Given the description of an element on the screen output the (x, y) to click on. 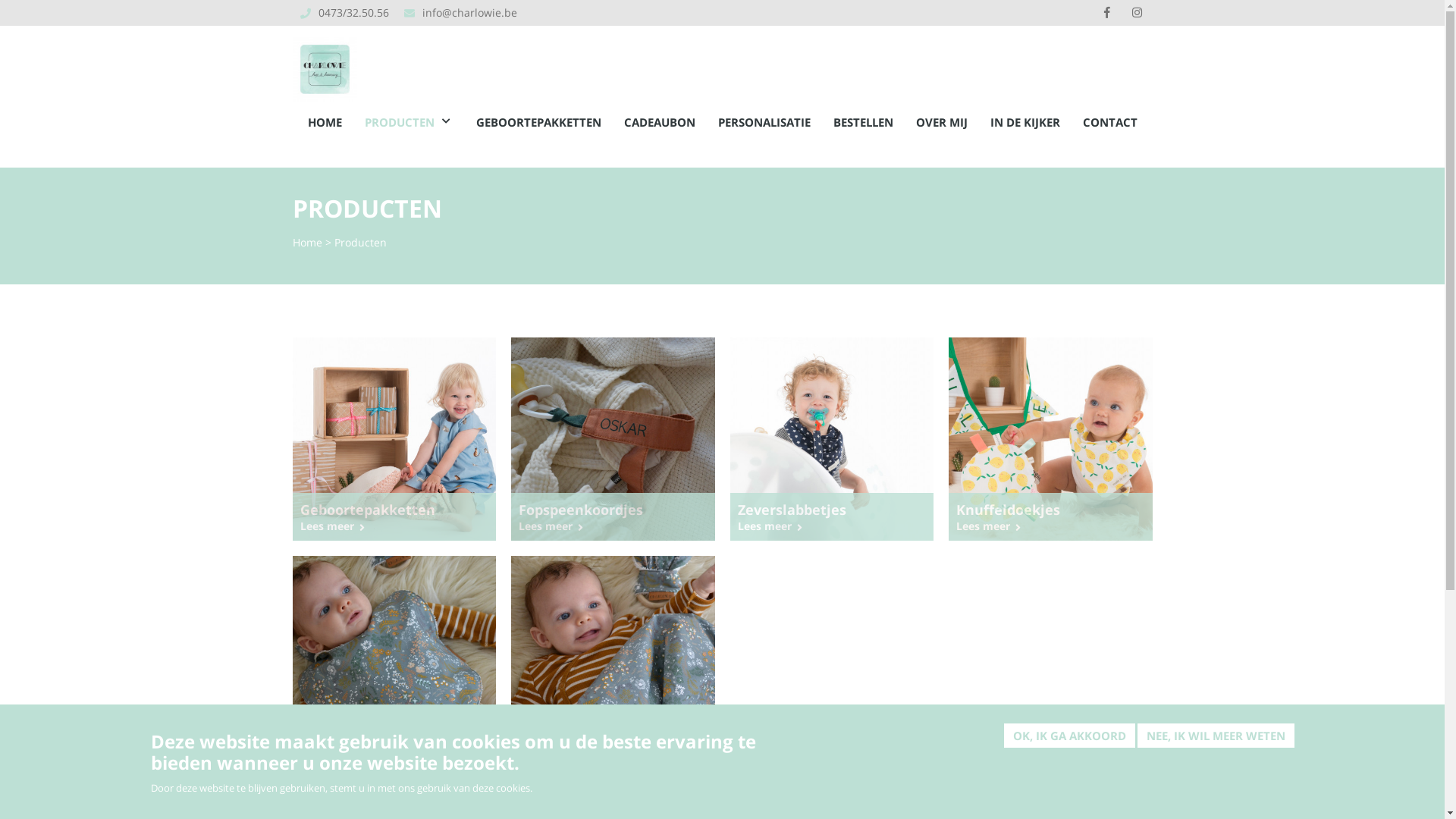
HOME Element type: text (324, 122)
NEE, IK WIL MEER WETEN Element type: text (1215, 735)
instagram Element type: text (1136, 12)
PERSONALISATIE Element type: text (763, 122)
Geboortepakketten Element type: text (394, 509)
Home Element type: hover (324, 63)
info@charlowie.be Element type: text (468, 12)
Lees meer Element type: text (394, 745)
Lees meer Element type: text (831, 526)
Zeverslabbetjes Element type: text (831, 509)
PRODUCTEN Element type: text (408, 122)
CADEAUBON Element type: text (658, 122)
OK, IK GA AKKOORD Element type: text (1069, 735)
Knuffeldoekjes Element type: text (1050, 509)
Dekentjes Element type: text (612, 727)
Fopspeenkoordjes Element type: text (612, 509)
Lees meer Element type: text (394, 526)
CONTACT Element type: text (1110, 122)
OVER MIJ Element type: text (941, 122)
Producten Element type: text (359, 242)
Lees meer Element type: text (1050, 526)
facebook Element type: text (1106, 12)
Slabben Element type: text (394, 727)
Lees meer Element type: text (612, 526)
GEBOORTEPAKKETTEN Element type: text (538, 122)
Lees meer Element type: text (612, 745)
BESTELLEN Element type: text (862, 122)
0473/32.50.56 Element type: text (353, 12)
Home Element type: text (307, 242)
IN DE KIJKER Element type: text (1024, 122)
